Given the description of an element on the screen output the (x, y) to click on. 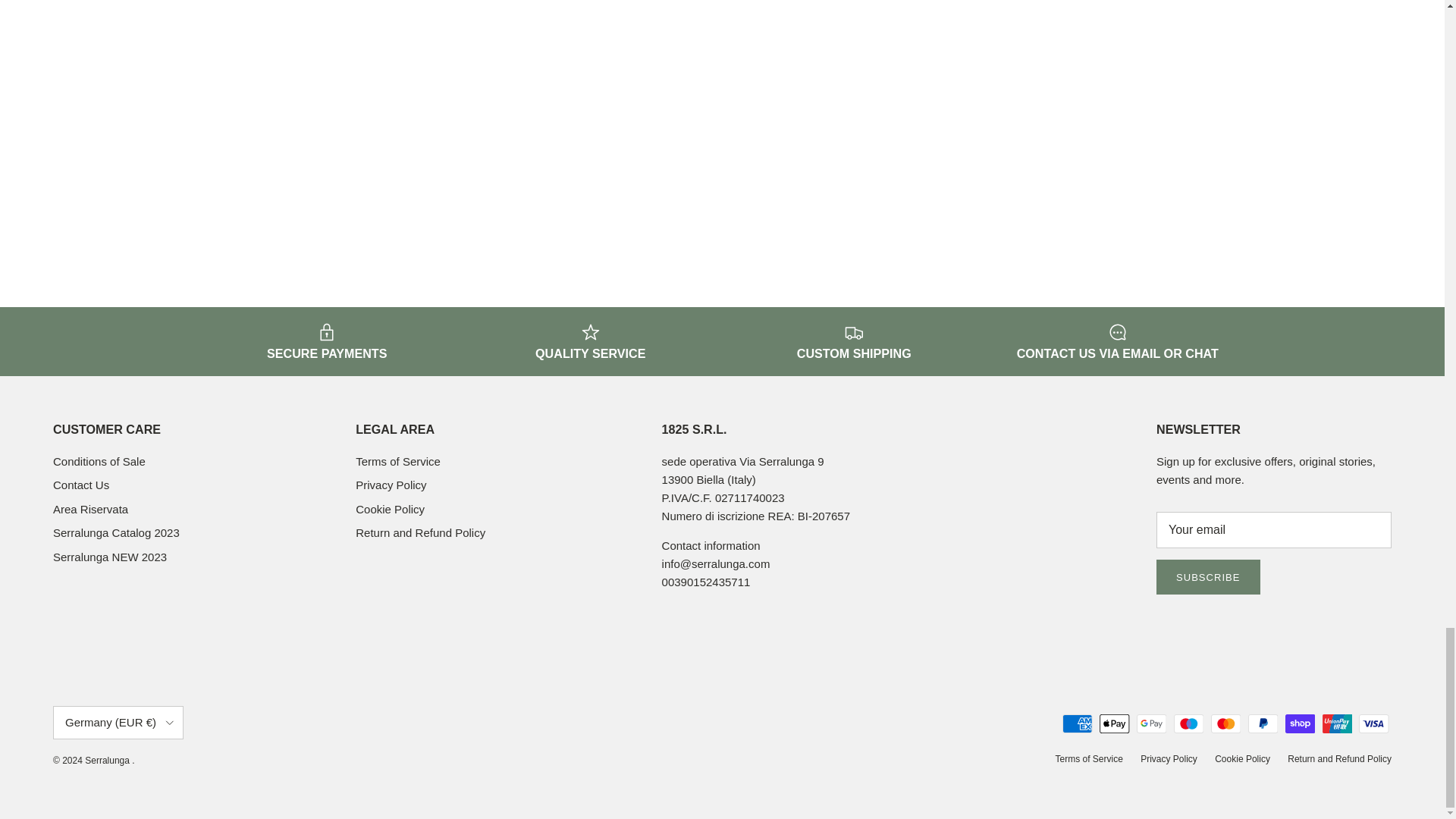
Mastercard (1225, 723)
Visa (1373, 723)
American Express (1077, 723)
Shop Pay (1299, 723)
Maestro (1188, 723)
Google Pay (1151, 723)
Union Pay (1337, 723)
Apple Pay (1114, 723)
PayPal (1262, 723)
